Given the description of an element on the screen output the (x, y) to click on. 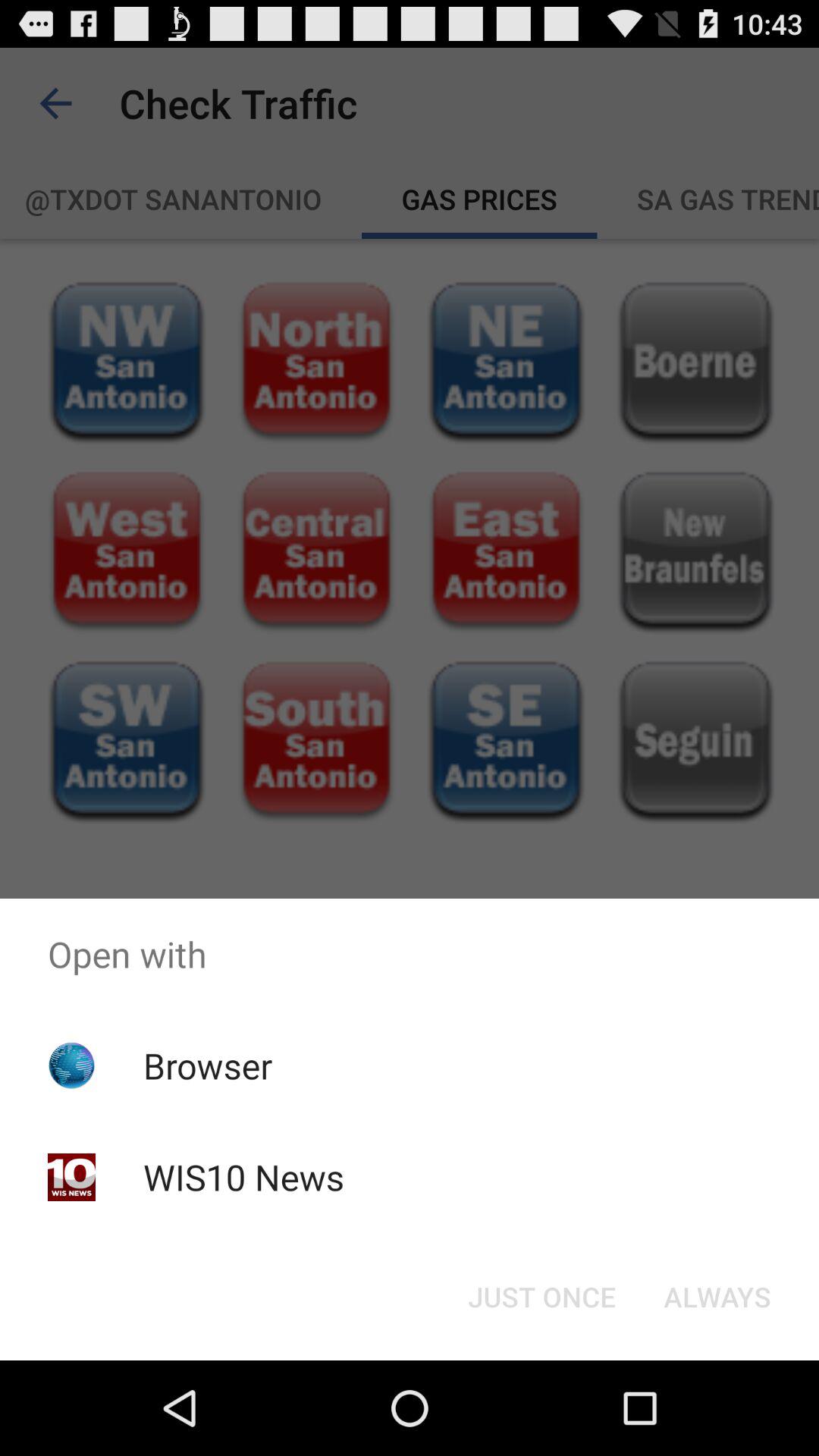
turn on just once icon (541, 1296)
